Given the description of an element on the screen output the (x, y) to click on. 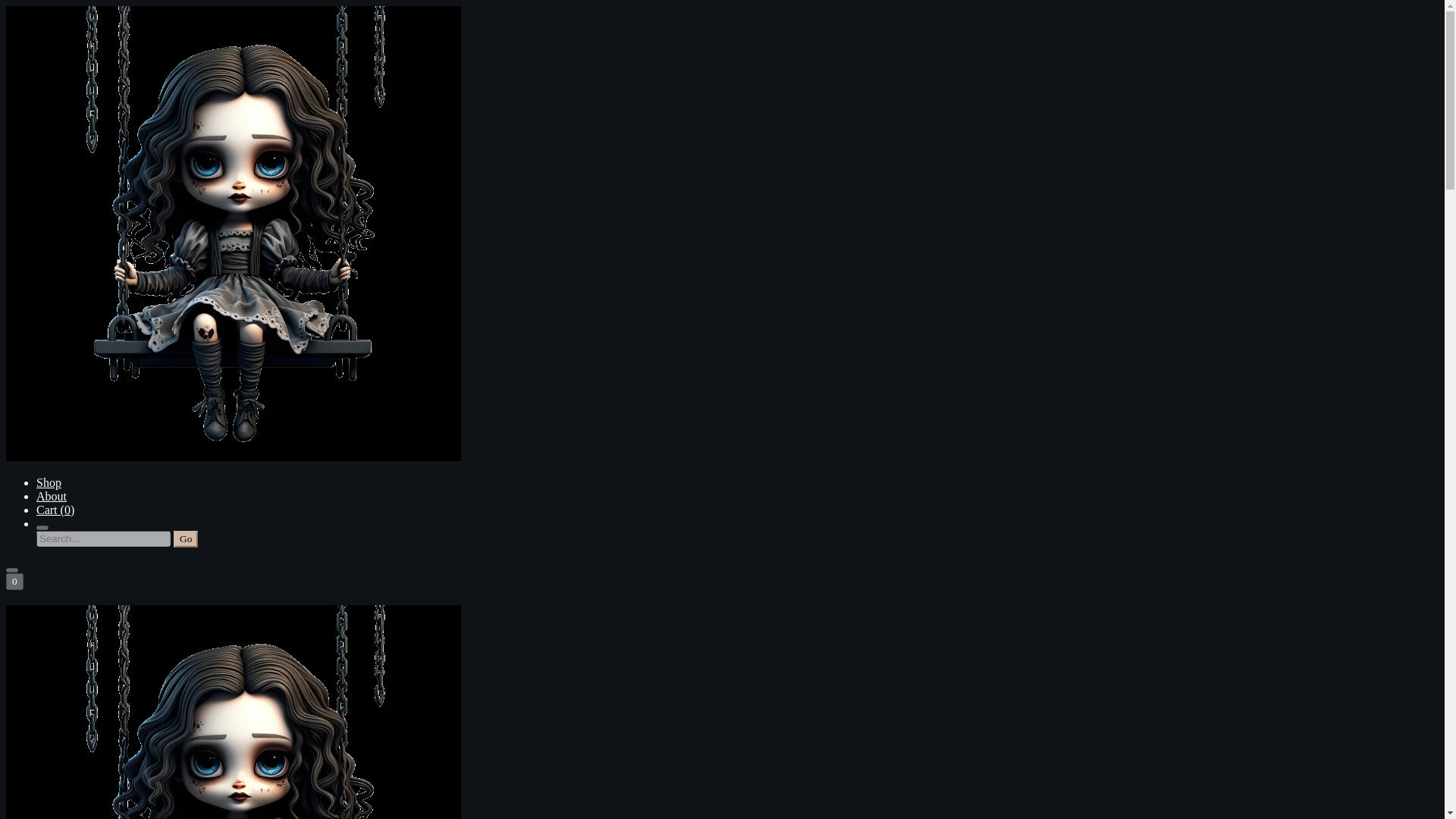
0 (14, 581)
Shop (48, 481)
About (51, 495)
Go (185, 538)
Go (185, 538)
